Given the description of an element on the screen output the (x, y) to click on. 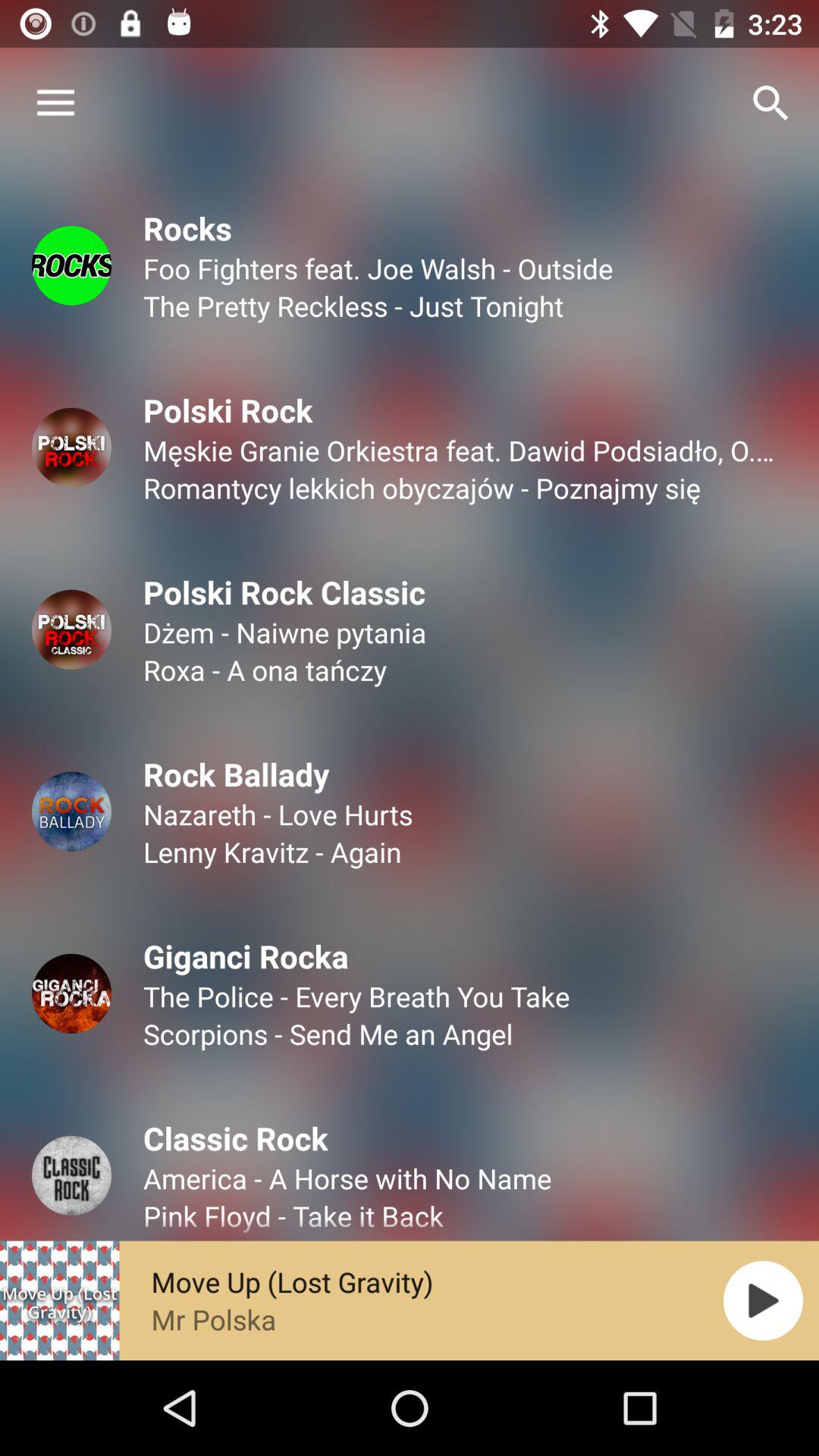
press the item above the rocks item (55, 103)
